Given the description of an element on the screen output the (x, y) to click on. 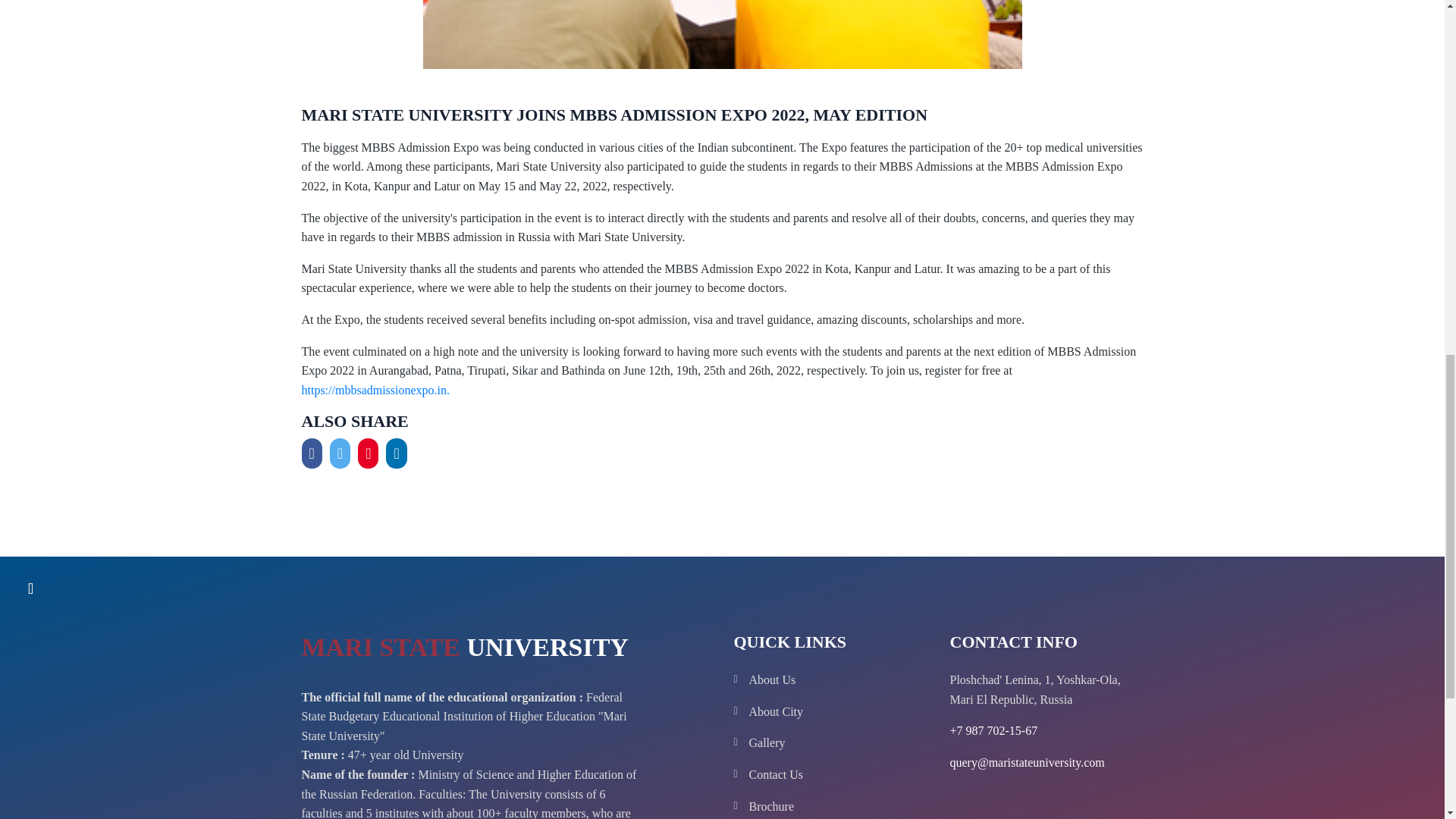
Brochure (838, 806)
About City (838, 711)
Contact Us (838, 774)
MARI STATE UNIVERSITY (464, 650)
Gallery (838, 742)
About Us (838, 680)
